Given the description of an element on the screen output the (x, y) to click on. 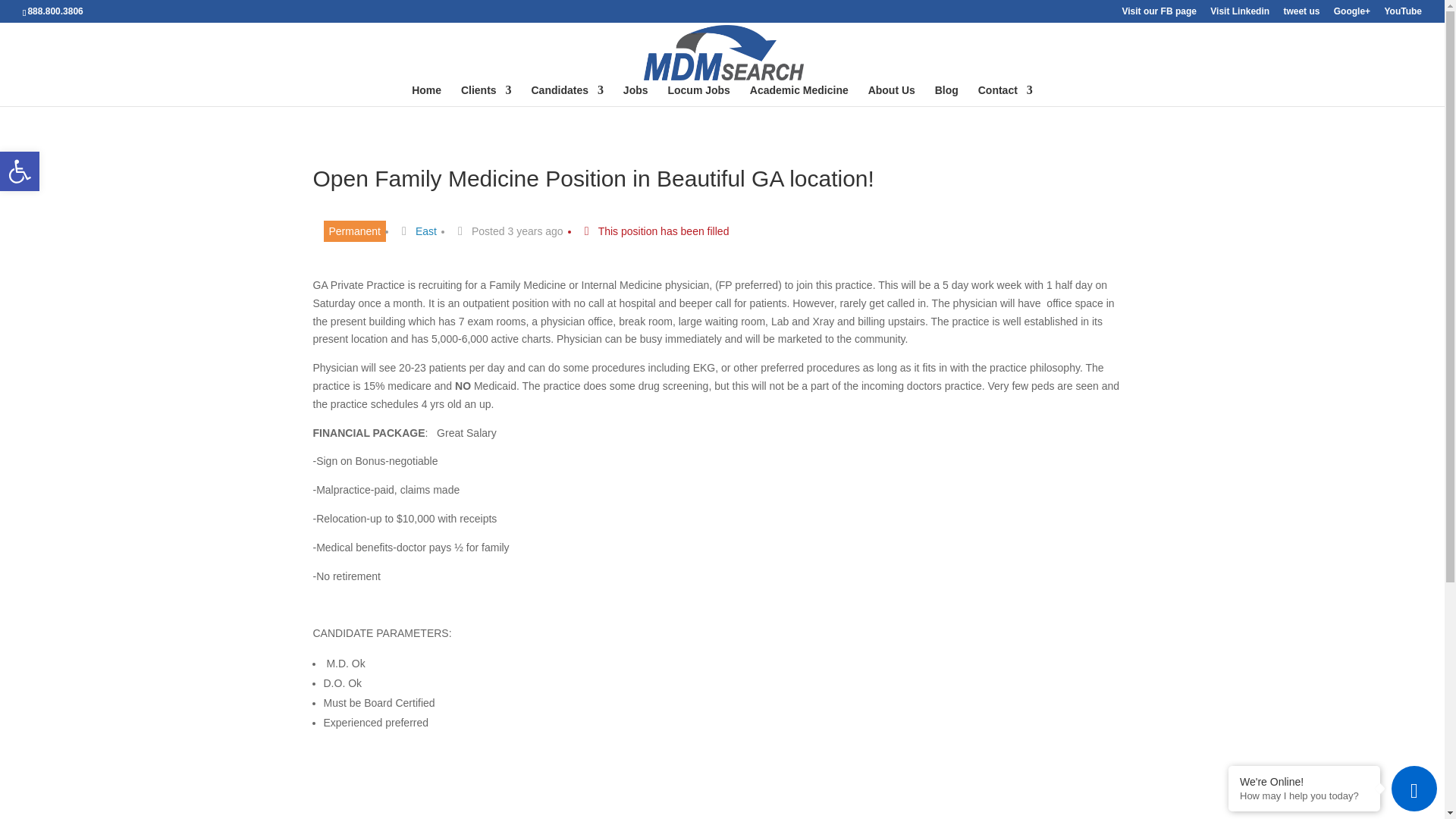
tweet us (1300, 14)
Visit our FB page (1158, 14)
Clients (486, 95)
We're Online! (1304, 781)
Contact (1005, 95)
Candidates (566, 95)
How may I help you today? (1304, 795)
About Us (891, 95)
YouTube (1403, 14)
Blog (19, 170)
Accessibility Tools (946, 95)
Locum Jobs (19, 170)
Visit Linkedin (697, 95)
Home (1239, 14)
